Given the description of an element on the screen output the (x, y) to click on. 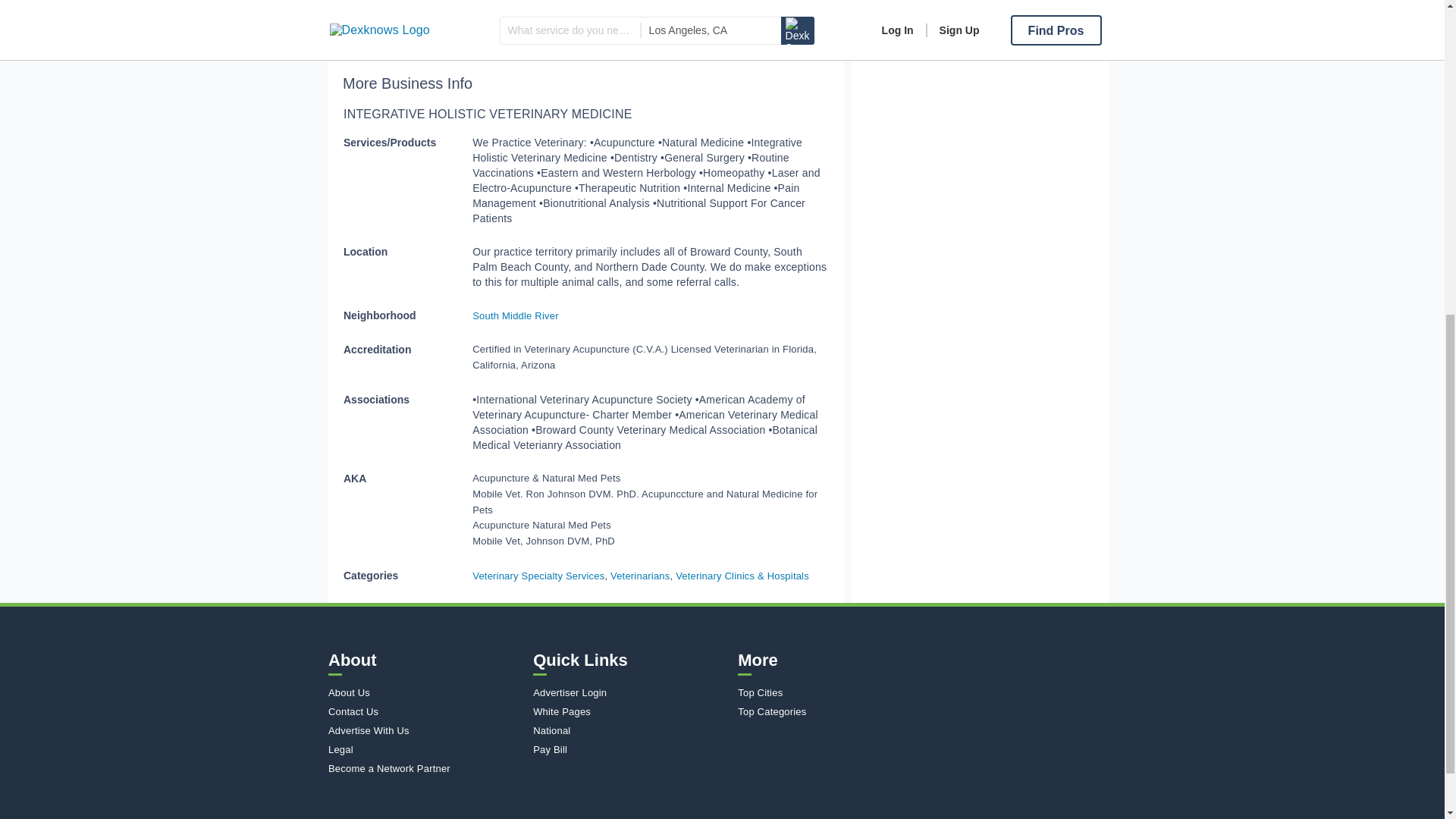
Advertise With Us (427, 730)
Legal (427, 749)
Contact Us (427, 711)
About Us (427, 692)
Veterinarians (639, 575)
Veterinary Specialty Services (537, 575)
South Middle River (514, 315)
